Given the description of an element on the screen output the (x, y) to click on. 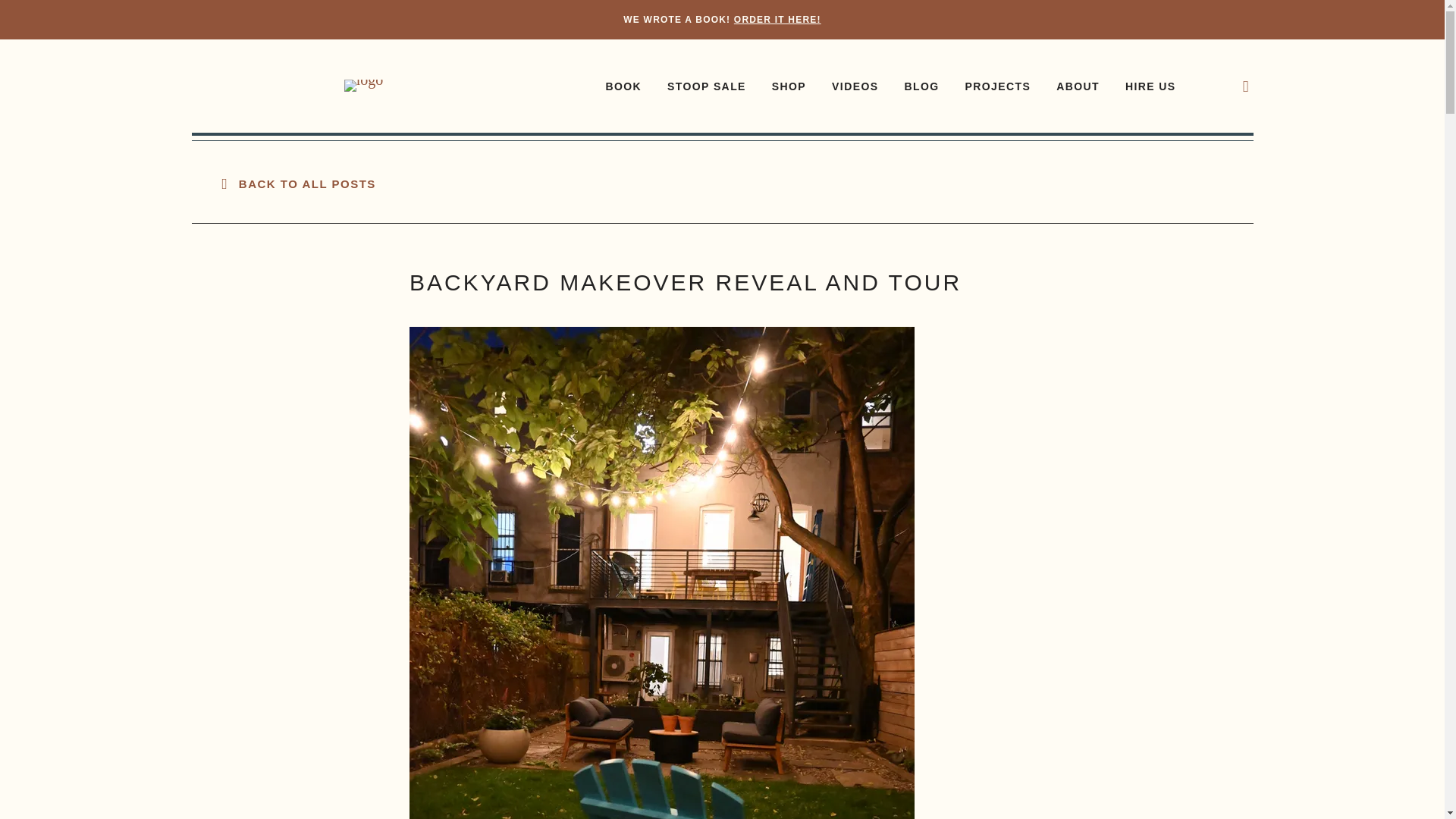
PROJECTS (996, 87)
BLOG (921, 87)
ORDER IT HERE! (777, 19)
VIDEOS (854, 87)
SHOP (788, 87)
ABOUT (1078, 87)
logo (363, 85)
BACK TO ALL POSTS (298, 183)
HIRE US (1150, 87)
